Given the description of an element on the screen output the (x, y) to click on. 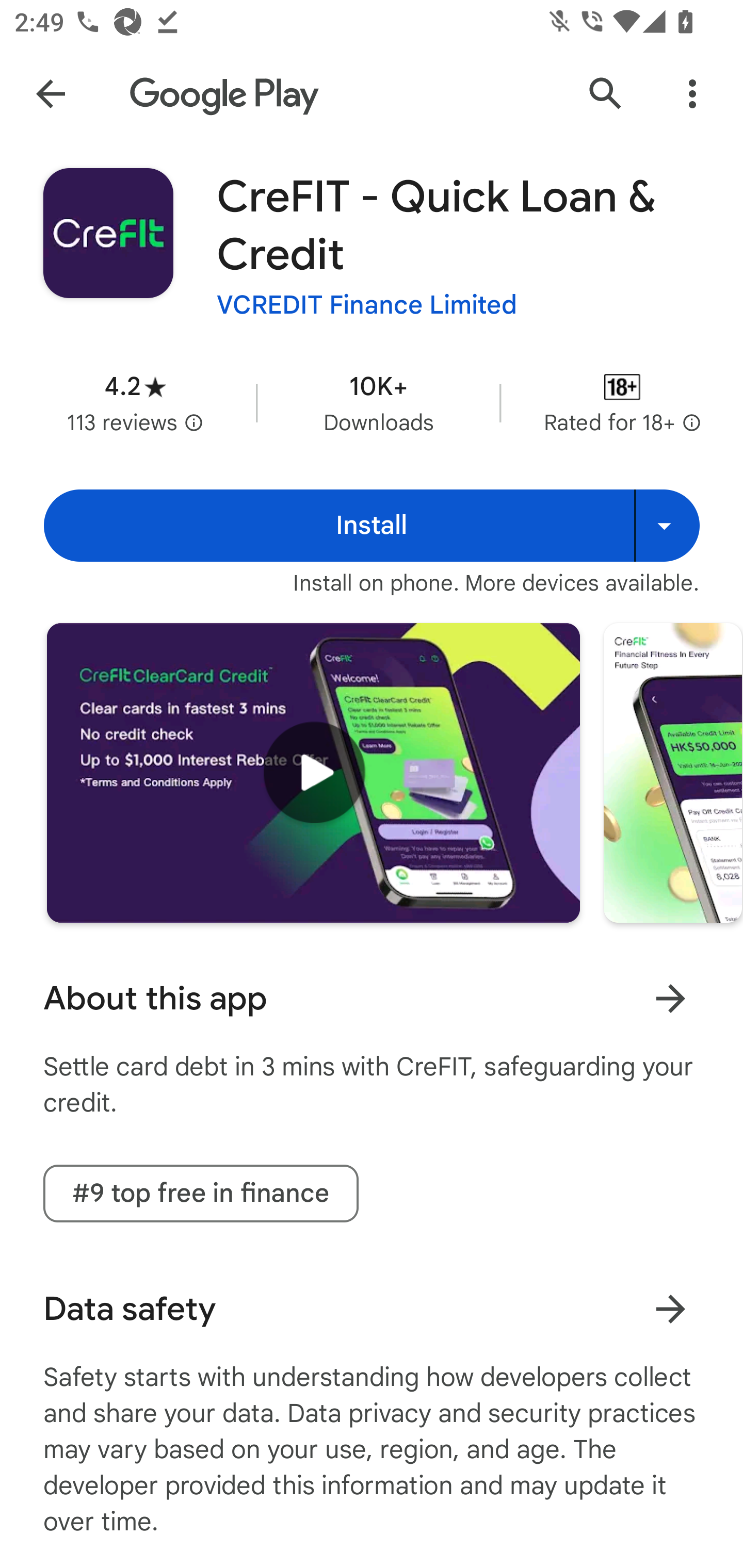
Navigate up (50, 93)
Search Google Play (605, 93)
More Options (692, 93)
VCREDIT Finance Limited (366, 304)
Average rating 4.2 stars in 113 reviews (135, 402)
Content rating Rated for 18+ (622, 402)
Install Install Install on more devices (371, 525)
Install on more devices (667, 525)
Play trailer for "CreFIT - Quick Loan & Credit" (313, 771)
About this app Learn more About this app (371, 998)
Learn more About this app (670, 997)
#9 top free in finance tag (200, 1193)
Data safety Learn more about data safety (371, 1309)
Learn more about data safety (670, 1308)
